Given the description of an element on the screen output the (x, y) to click on. 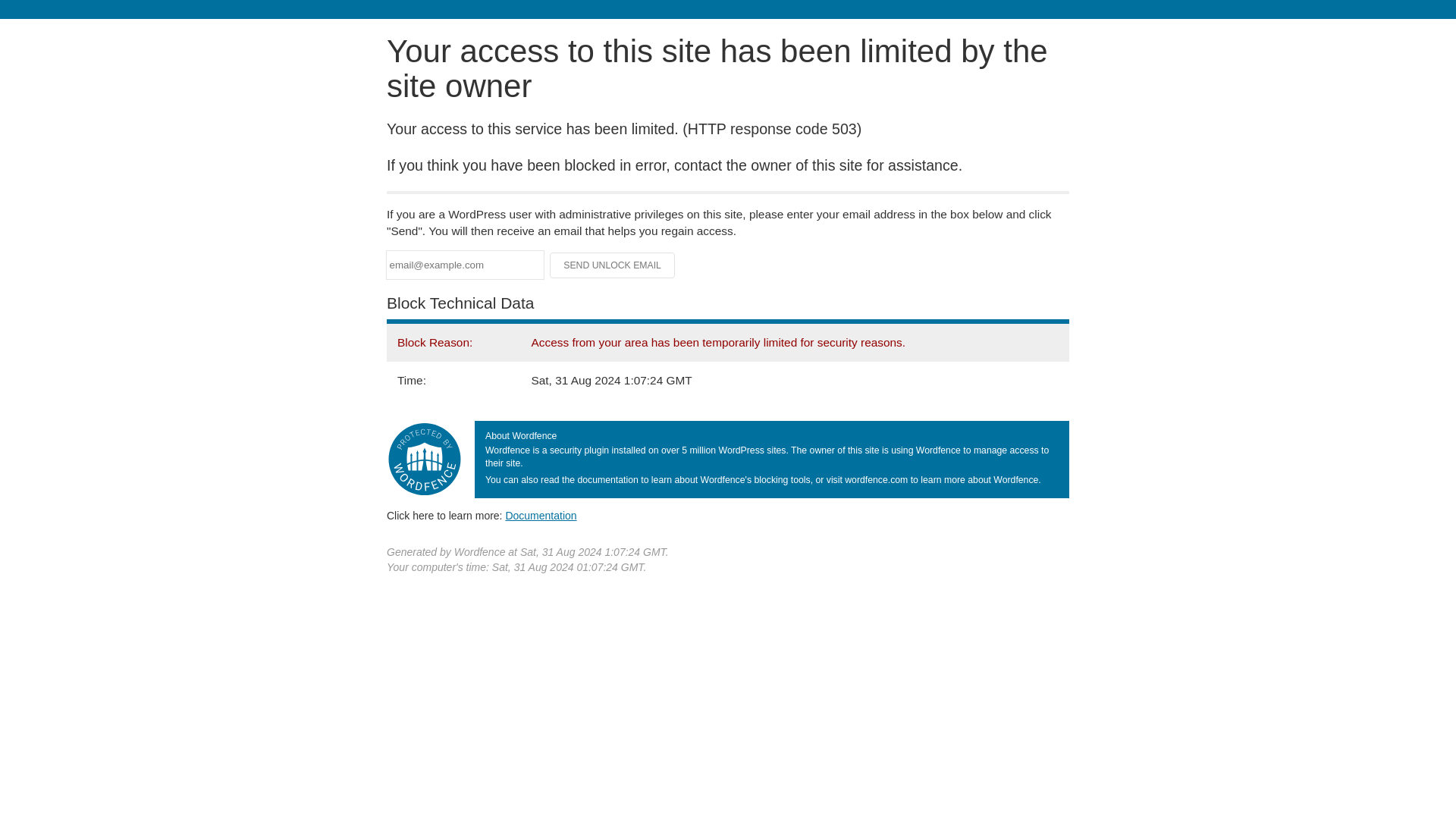
Send Unlock Email (612, 265)
Documentation (540, 515)
Send Unlock Email (612, 265)
